Given the description of an element on the screen output the (x, y) to click on. 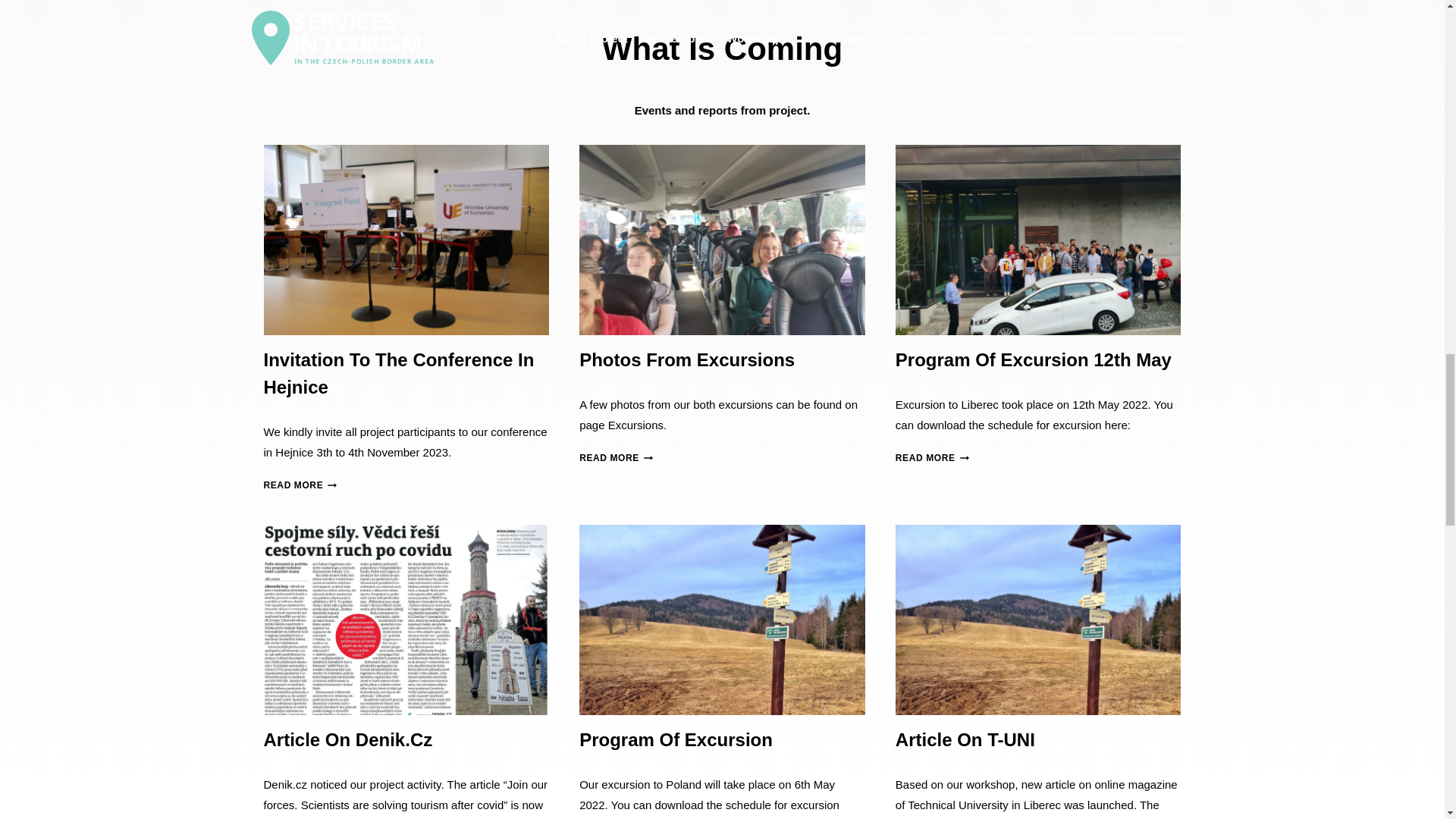
READ MORE (300, 484)
Photos From Excursions (686, 359)
READ MORE (932, 457)
READ MORE (615, 457)
Invitation To The Conference In Hejnice (398, 373)
Program Of Excursion 12th May (1033, 359)
Article On Denik.Cz (347, 739)
Program Of Excursion (676, 739)
